Given the description of an element on the screen output the (x, y) to click on. 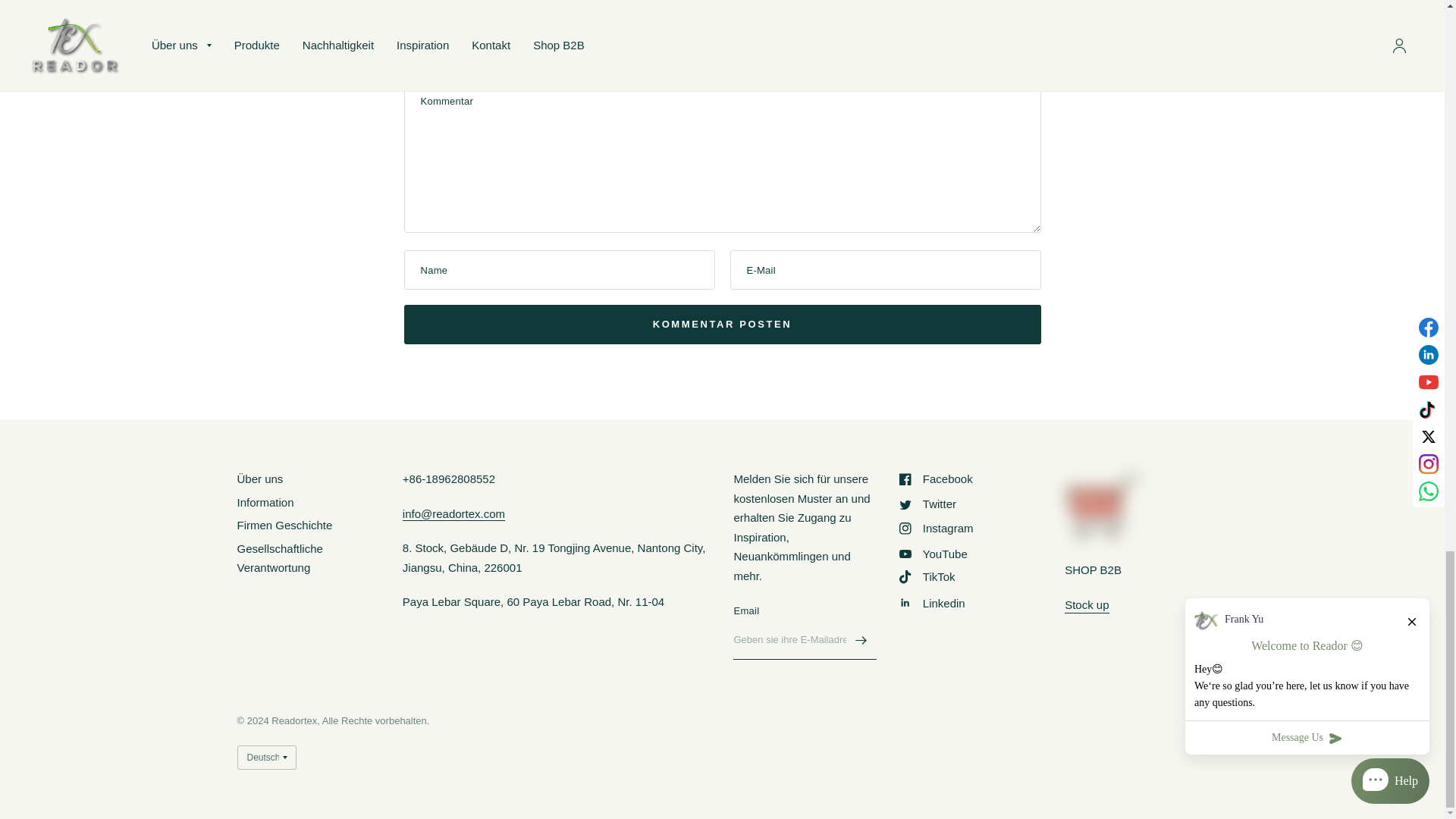
Kommentar posten (722, 323)
